Given the description of an element on the screen output the (x, y) to click on. 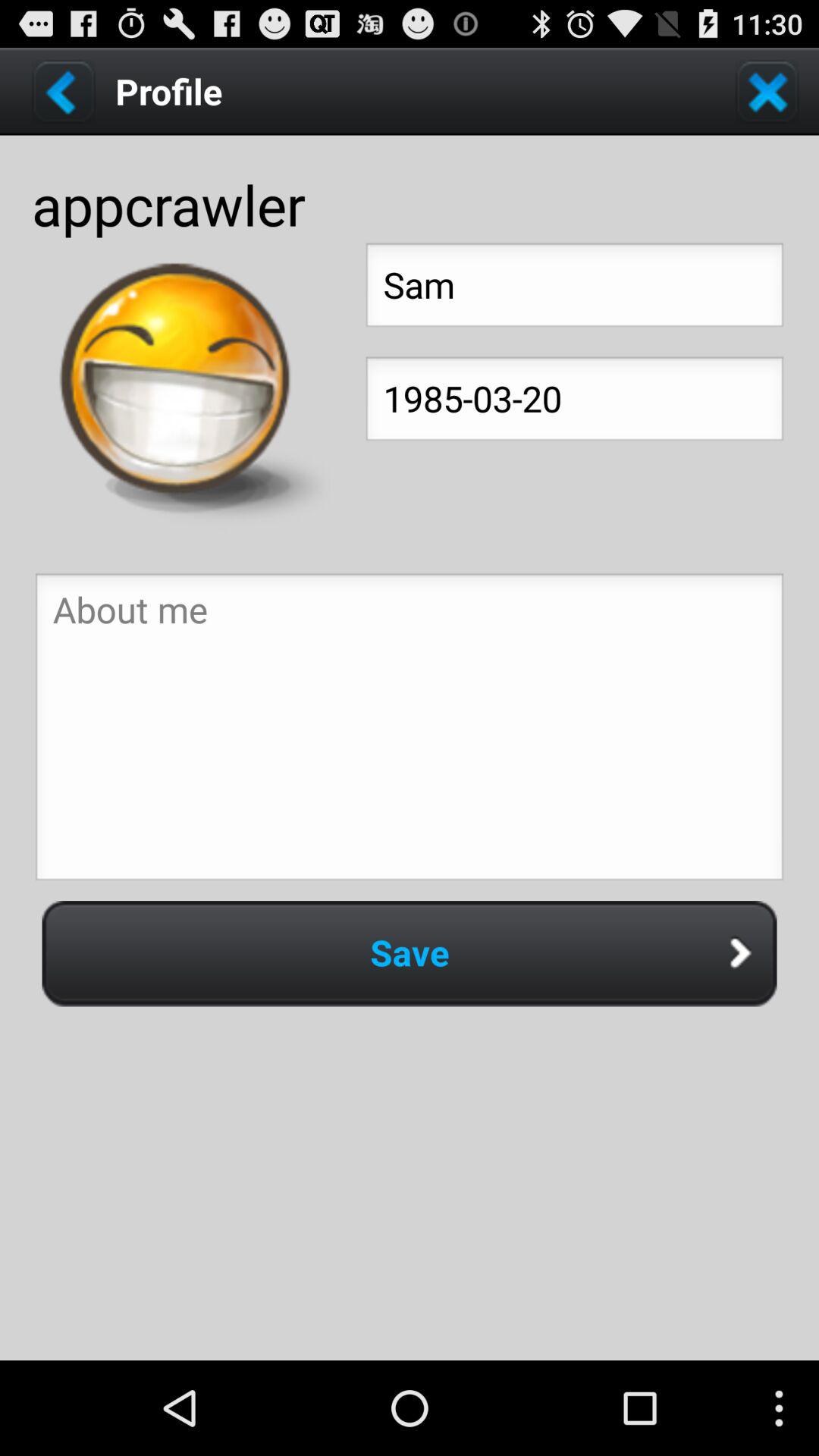
go to above (409, 731)
